Given the description of an element on the screen output the (x, y) to click on. 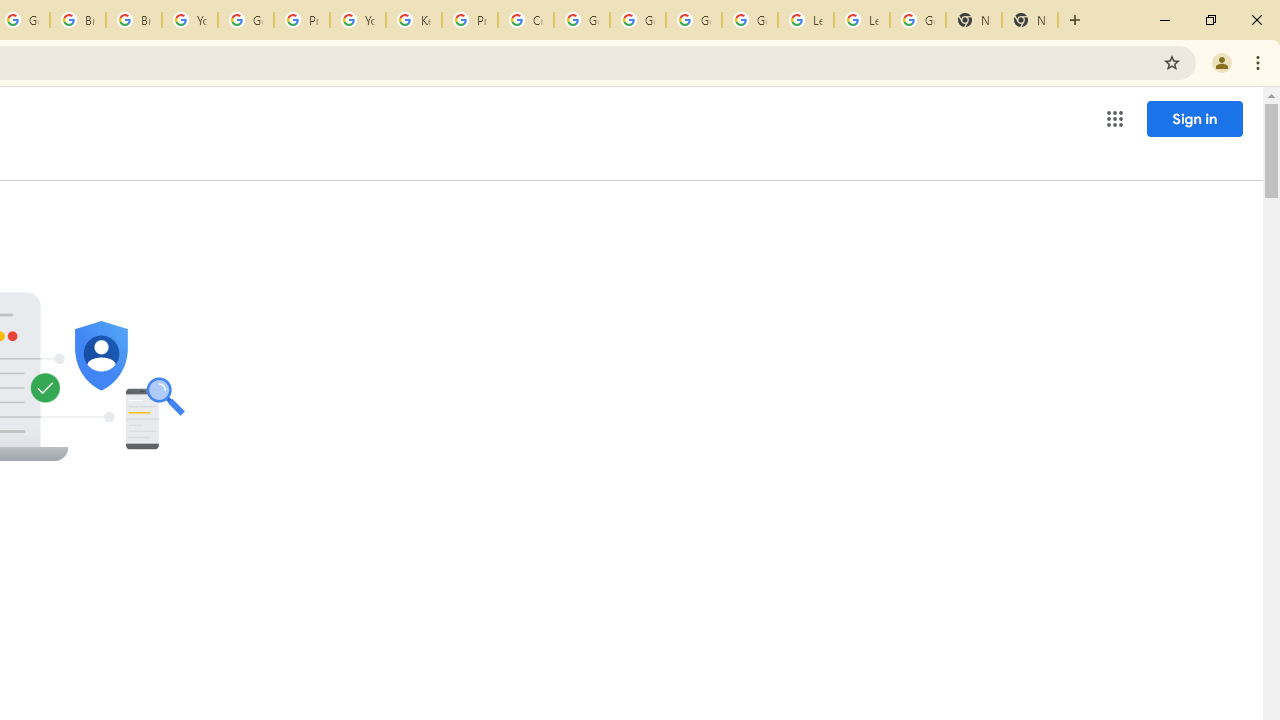
YouTube (358, 20)
Google Account (917, 20)
Google Account Help (749, 20)
YouTube (189, 20)
Create your Google Account (525, 20)
New Tab (1030, 20)
